Given the description of an element on the screen output the (x, y) to click on. 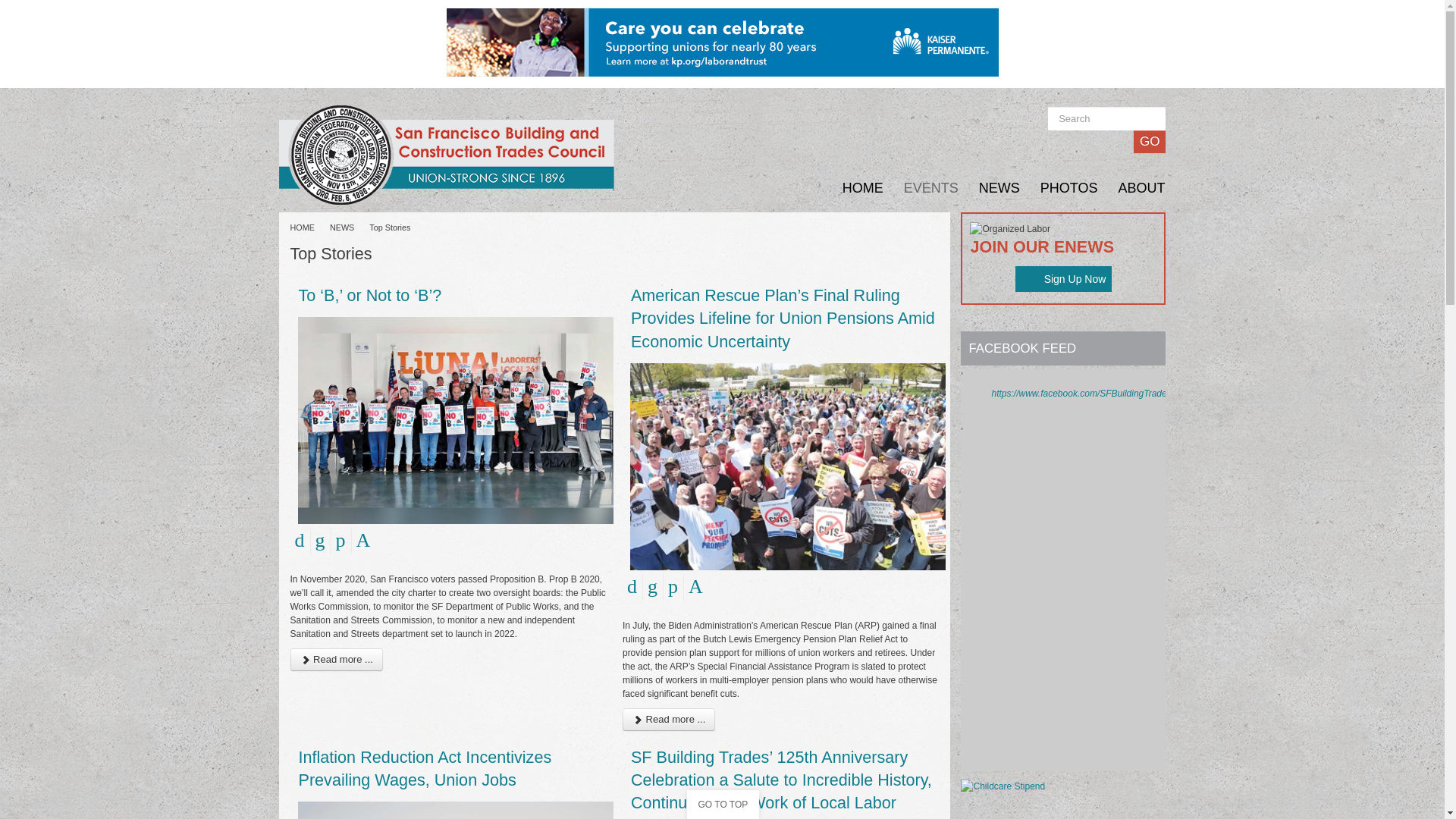
Return to the home pager. (449, 154)
Search (1107, 118)
GO (1150, 141)
HOME (852, 187)
KAISER TOP BANNER (721, 41)
HOME (309, 226)
NEWS (989, 187)
Top Stories (397, 226)
PHOTOS (1058, 187)
Childcare Stipend 2 (1002, 785)
